Given the description of an element on the screen output the (x, y) to click on. 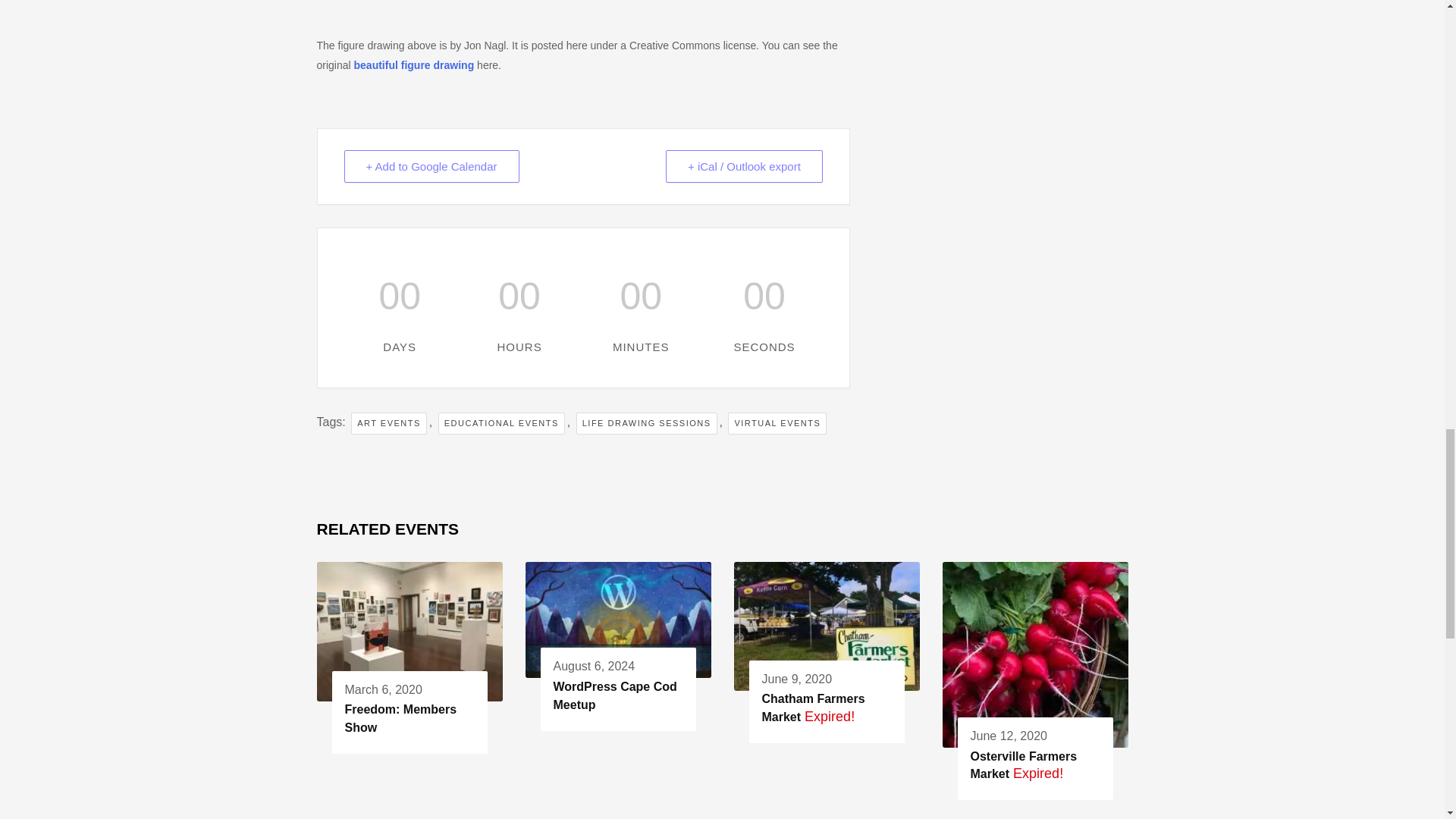
beautiful figure drawing (413, 64)
